Given the description of an element on the screen output the (x, y) to click on. 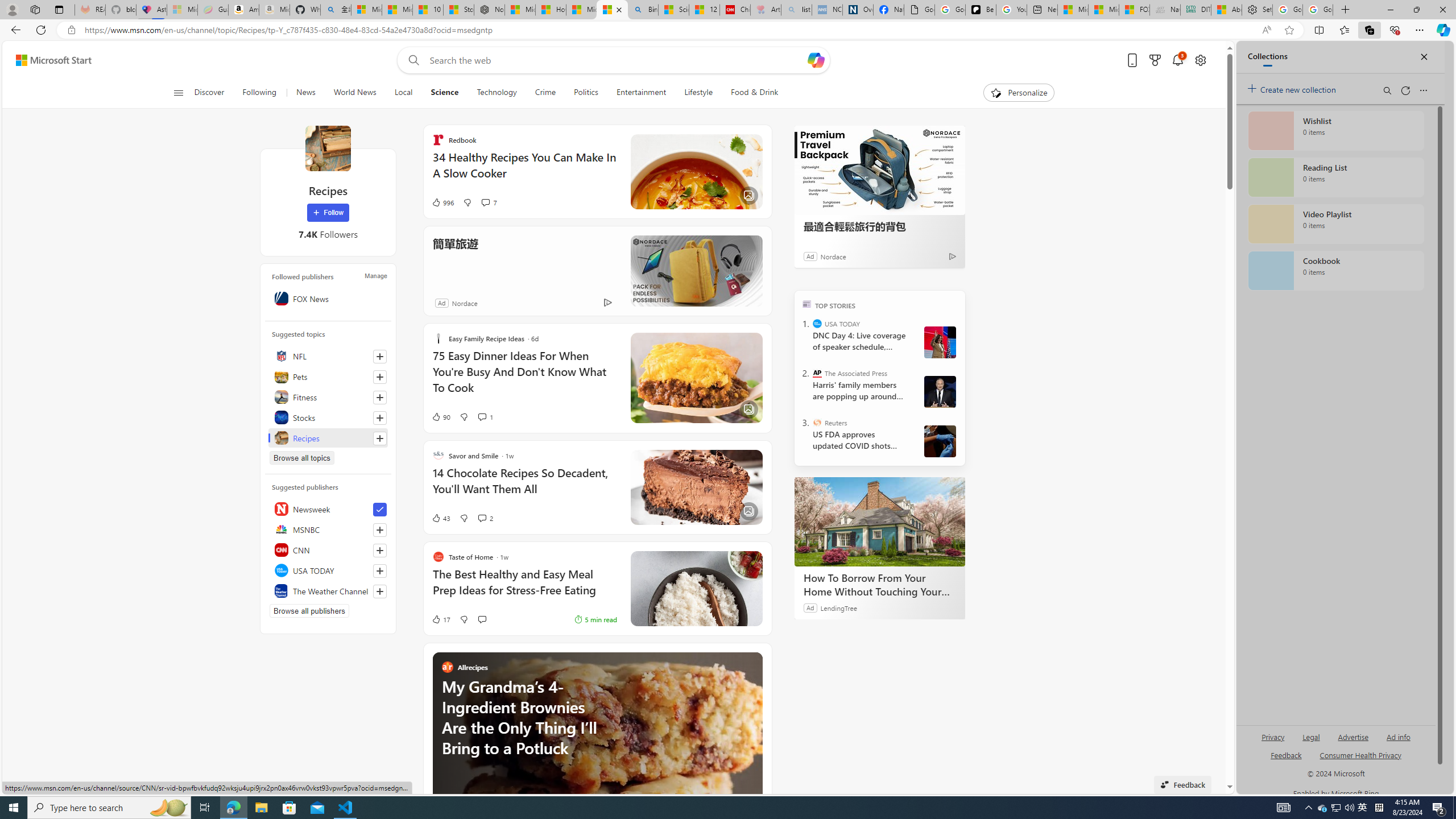
USA TODAY (327, 570)
CNN (327, 549)
Pets (327, 376)
43 Like (440, 517)
